Given the description of an element on the screen output the (x, y) to click on. 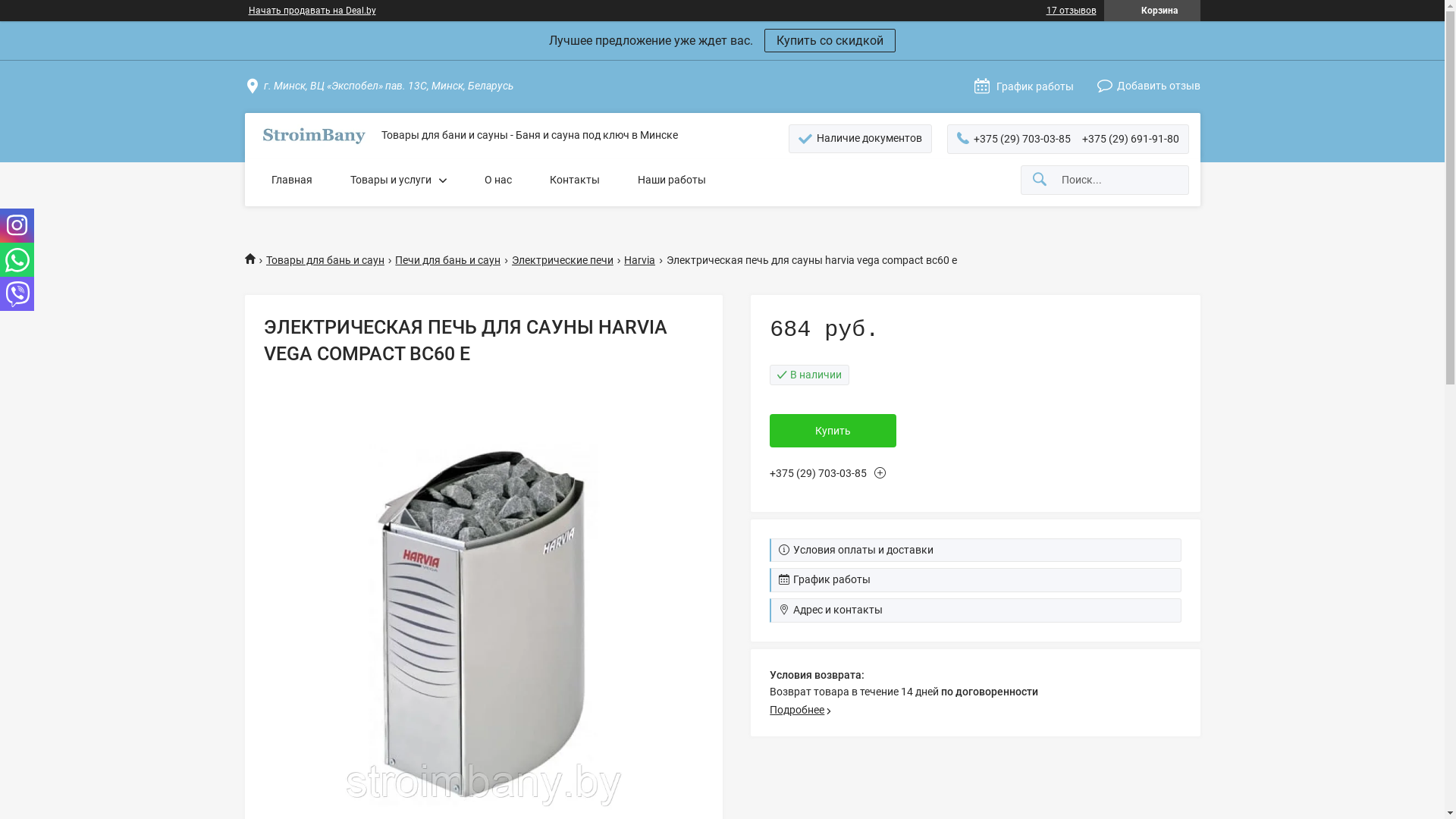
Harvia Element type: text (639, 260)
